Given the description of an element on the screen output the (x, y) to click on. 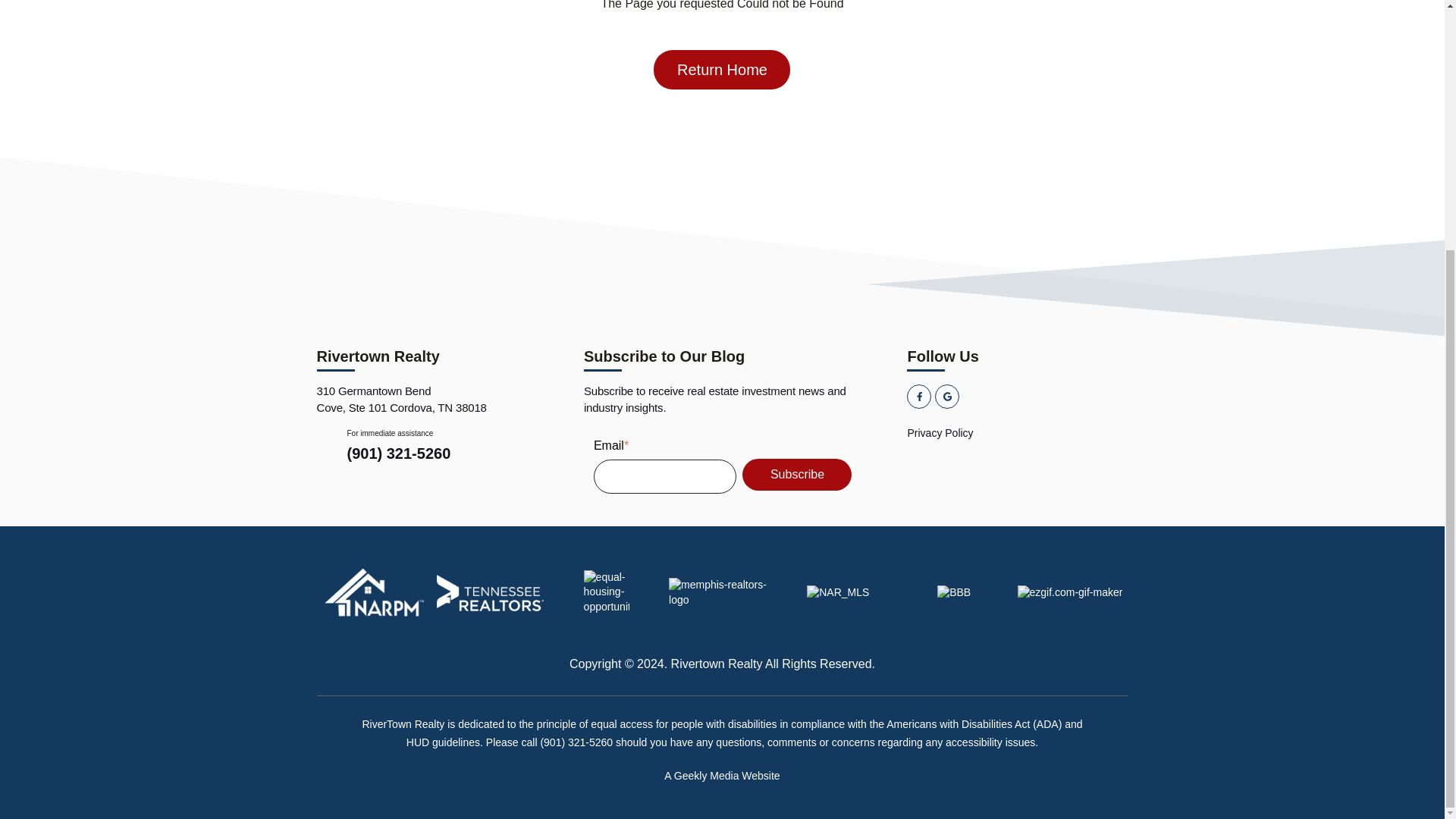
Return Home (721, 69)
Geekly Media (706, 775)
Privacy Policy (1016, 433)
Subscribe (796, 474)
Subscribe (796, 474)
